Given the description of an element on the screen output the (x, y) to click on. 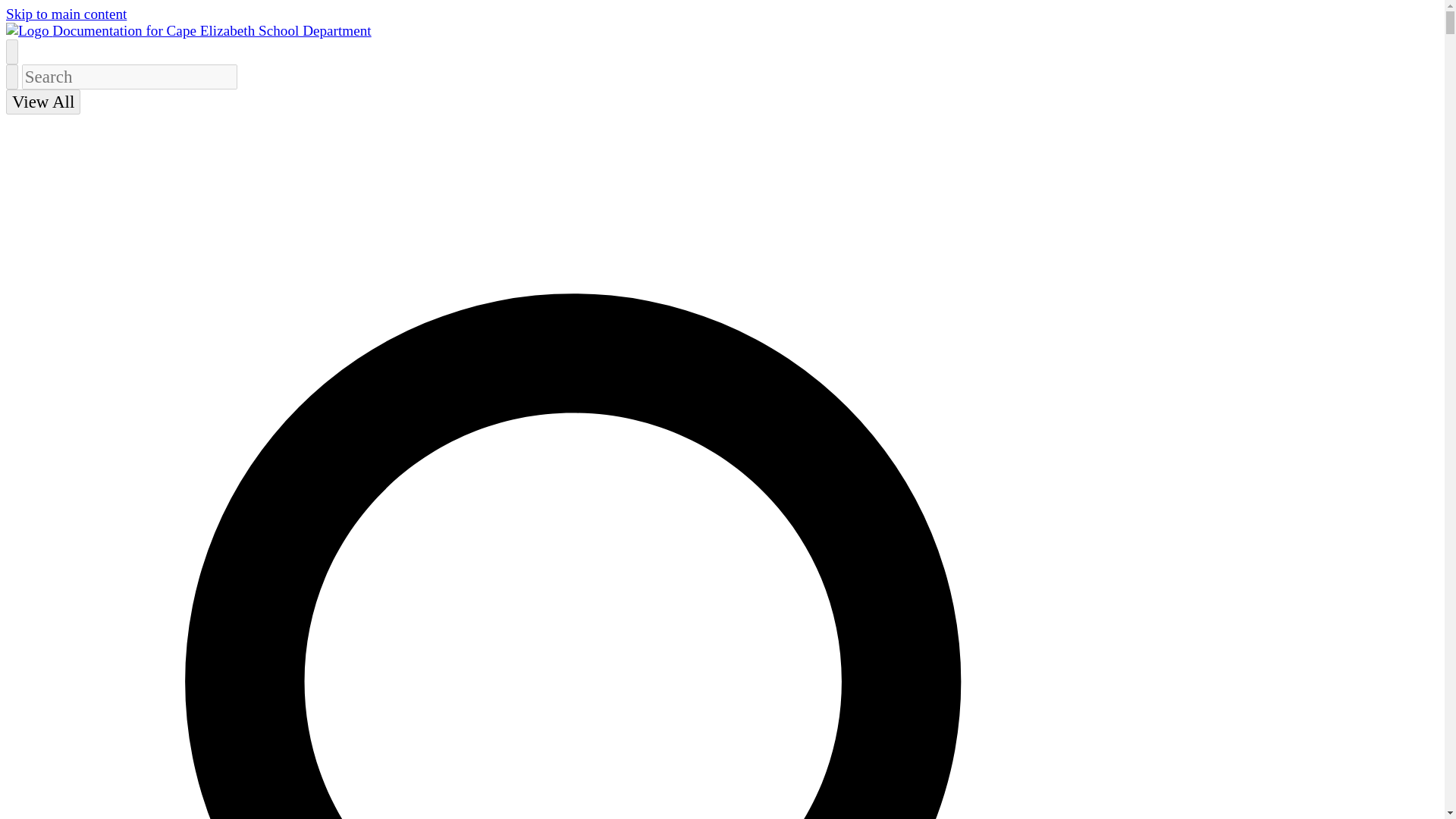
Skip to main content (65, 13)
Documentation for Cape Elizabeth School Department (188, 30)
View All (42, 101)
